Given the description of an element on the screen output the (x, y) to click on. 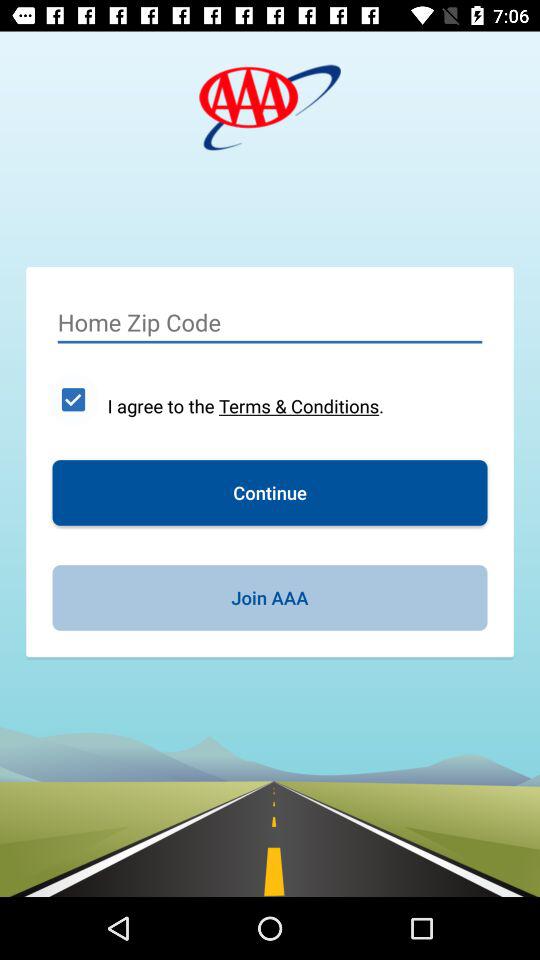
open the i agree to (245, 405)
